Given the description of an element on the screen output the (x, y) to click on. 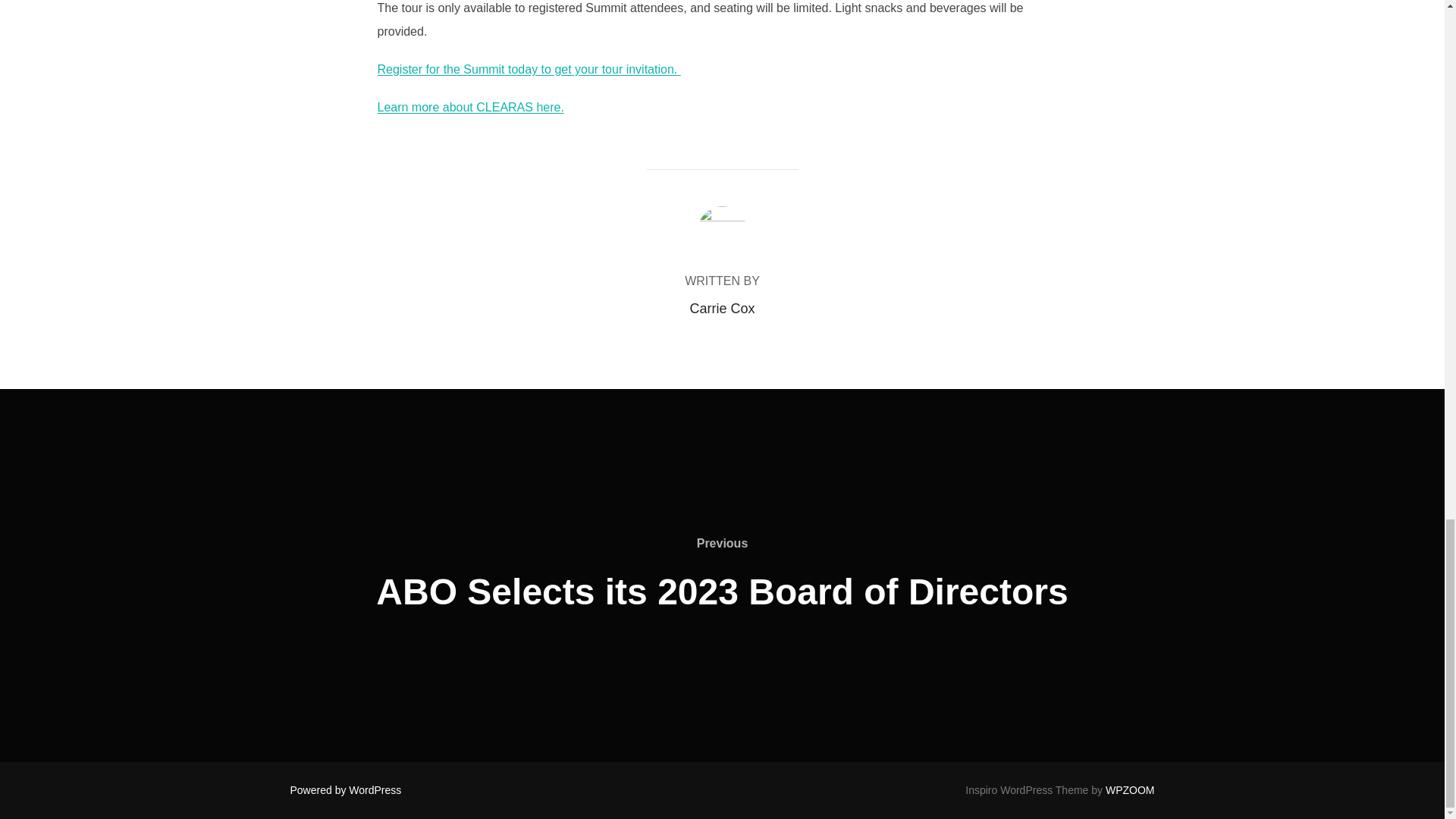
Posts by Carrie Cox (721, 308)
